Given the description of an element on the screen output the (x, y) to click on. 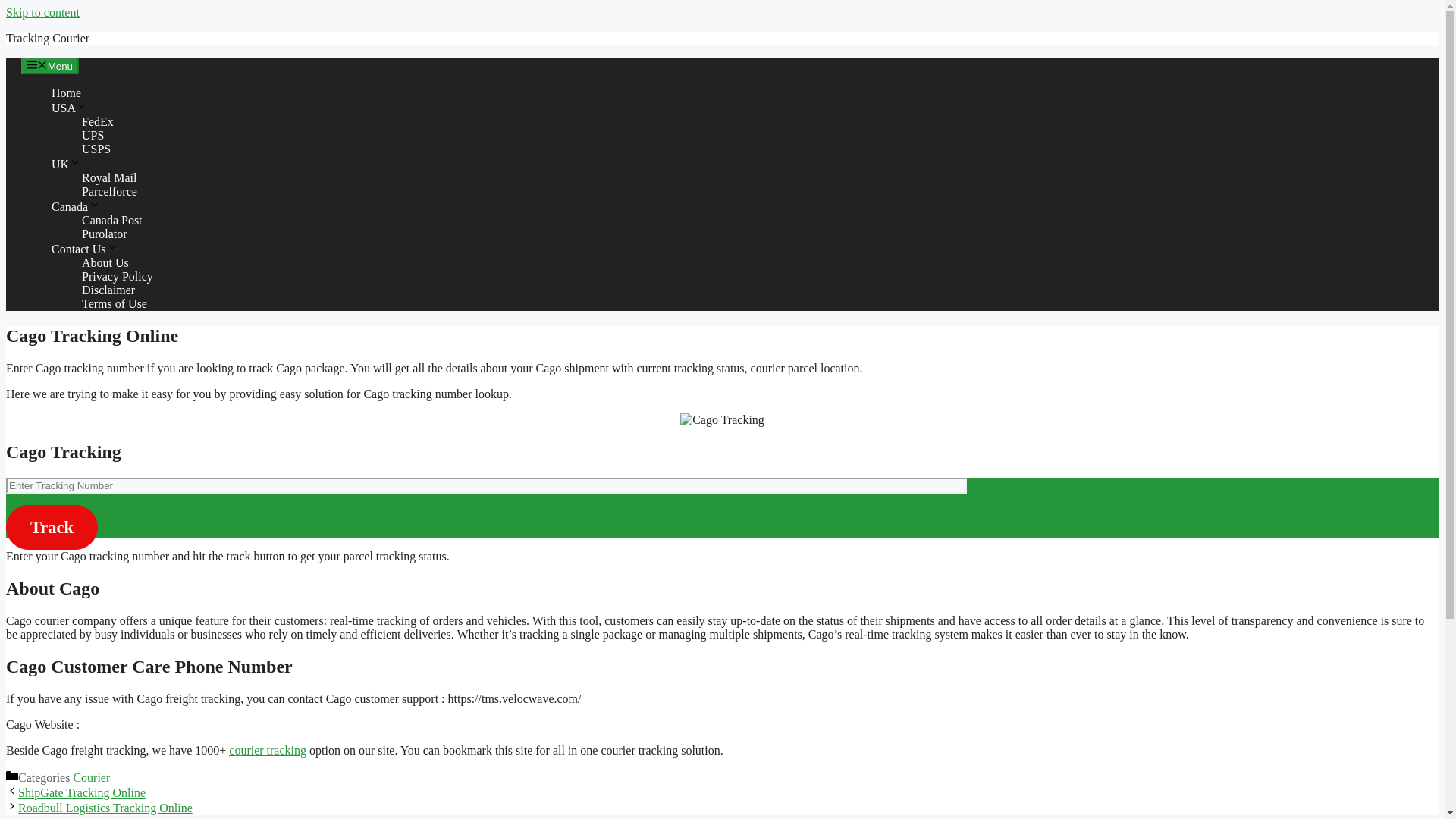
UK (65, 164)
Terms of Use (114, 303)
About Us (105, 262)
Royal Mail (108, 177)
Canada (75, 205)
Skip to content (42, 11)
courier tracking (266, 749)
Menu (49, 65)
Track (51, 527)
USPS (95, 148)
